Given the description of an element on the screen output the (x, y) to click on. 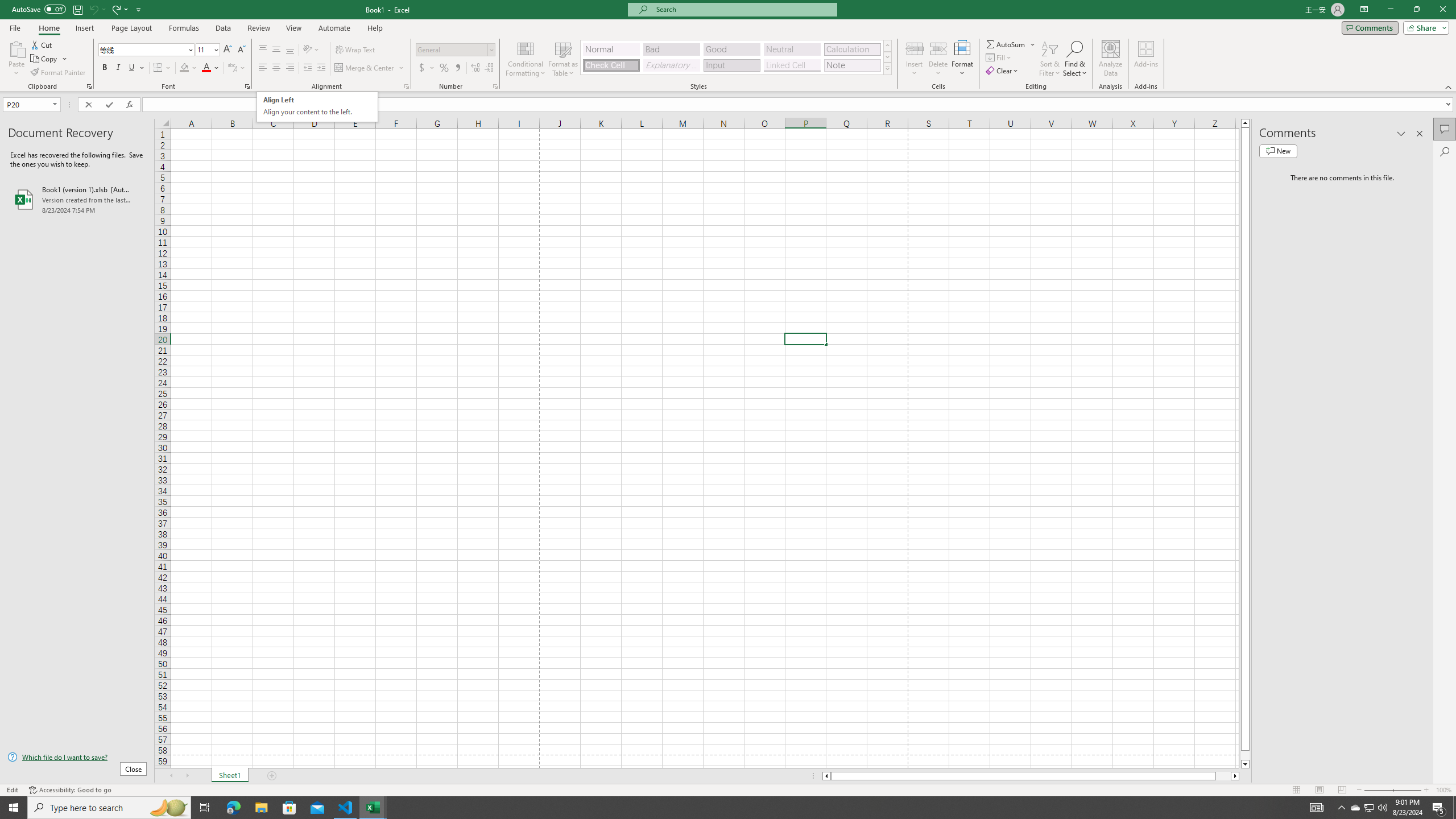
Automate (334, 28)
Which file do I want to save? (77, 757)
Comma Style (457, 67)
Orientation (311, 49)
Book1 (version 1).xlsb  [AutoRecovered] (77, 199)
Format (962, 58)
AutoSum (1011, 44)
Insert Cells (914, 48)
